Given the description of an element on the screen output the (x, y) to click on. 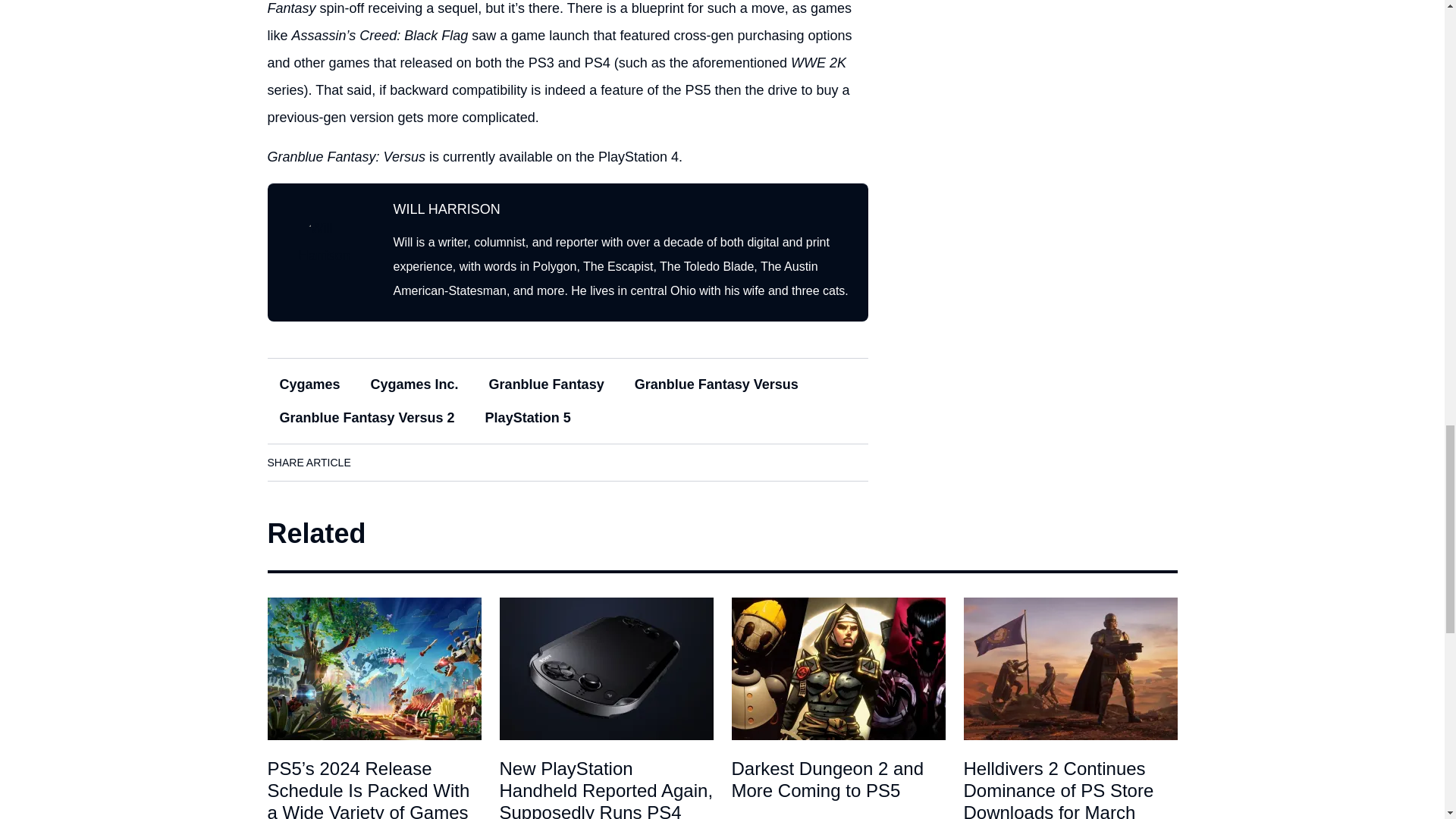
Granblue Fantasy (546, 384)
Granblue Fantasy Versus 2 (365, 417)
WILL HARRISON (446, 209)
Cygames (309, 384)
Pinterest (505, 462)
PlayStation 5 (528, 417)
Facebook (377, 462)
LinkedIn (420, 462)
Granblue Fantasy Versus (716, 384)
Twitter (463, 462)
Cygames Inc. (414, 384)
Darkest Dungeon 2 and More Coming to PS5 (837, 668)
